Given the description of an element on the screen output the (x, y) to click on. 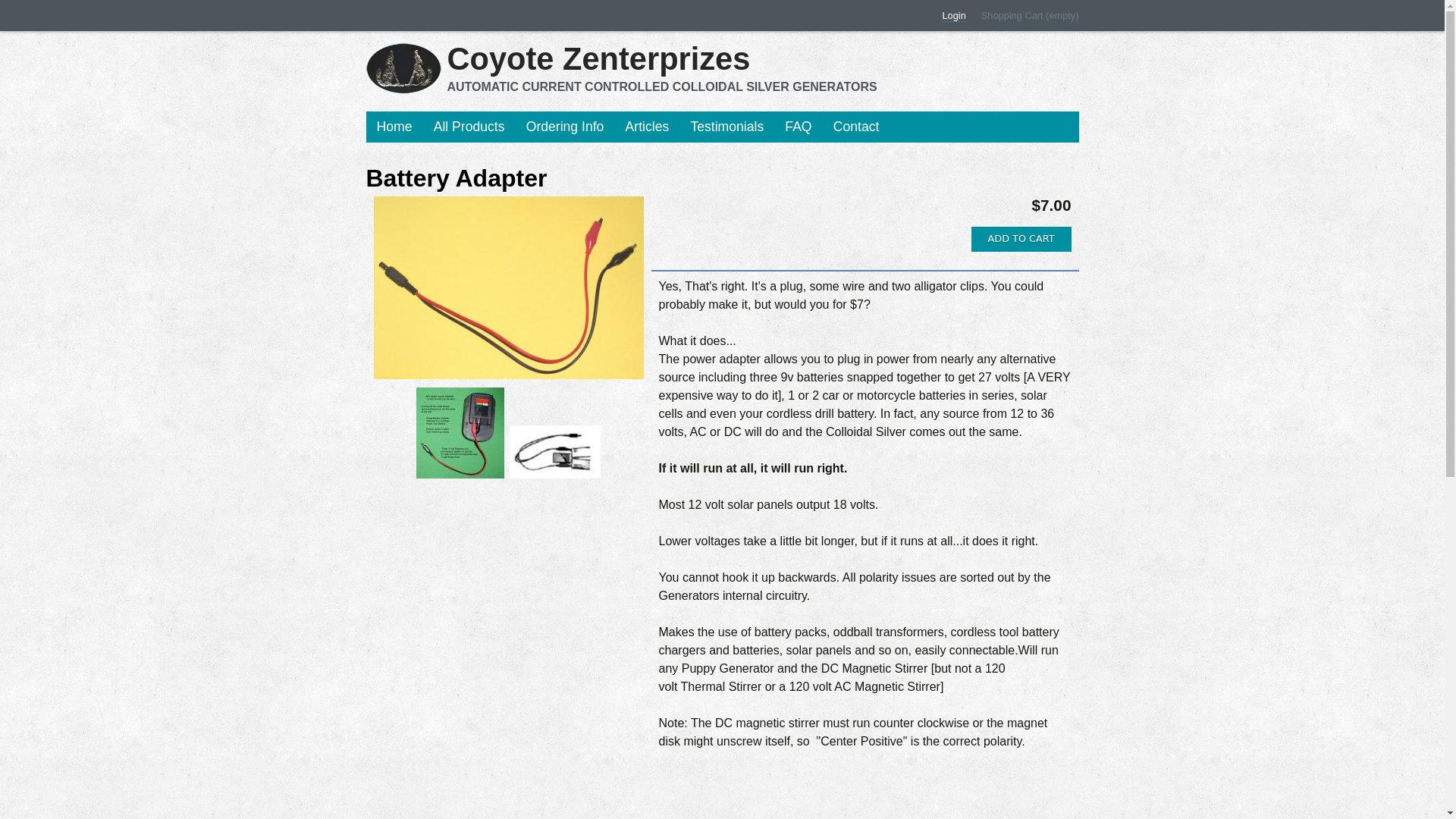
Home (403, 68)
Articles (646, 127)
Add to cart (1021, 238)
Contact (855, 127)
Coyote Zenterprizes (661, 59)
Login (953, 15)
All Products (469, 127)
Home (661, 59)
Testimonials (726, 127)
Home (393, 127)
